Given the description of an element on the screen output the (x, y) to click on. 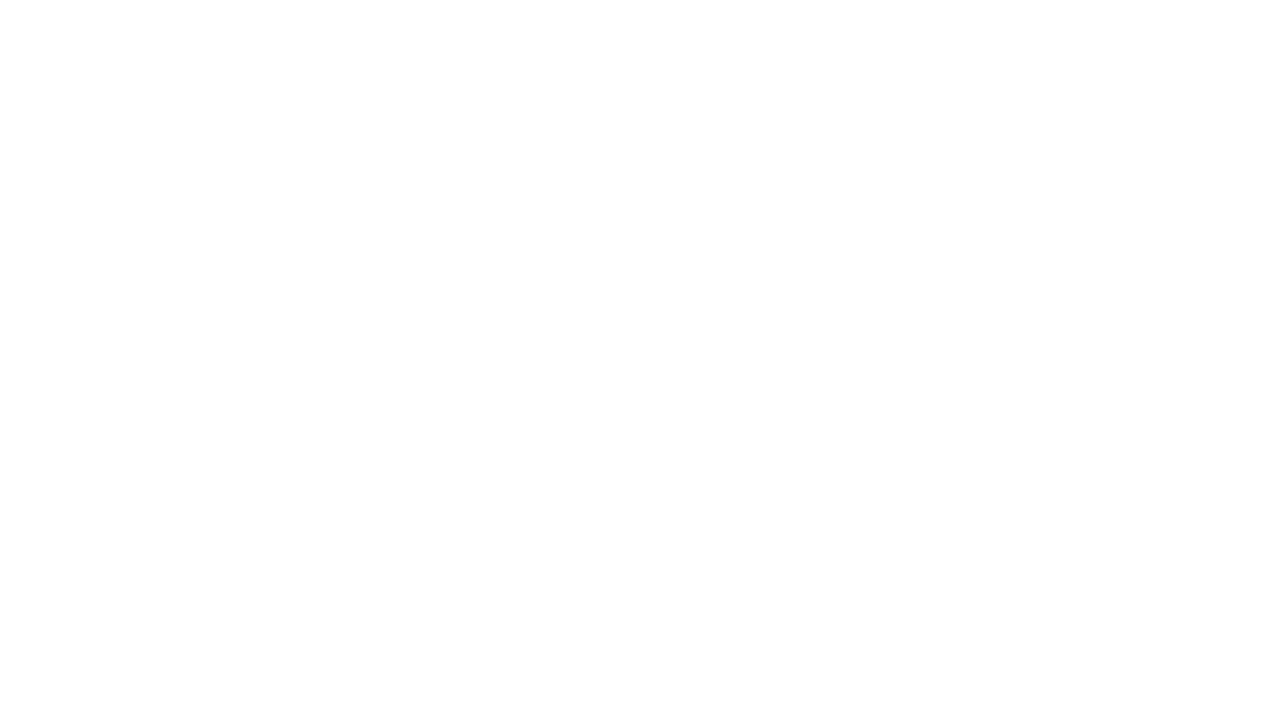
Styles (692, 120)
Strong (216, 100)
Row up (692, 79)
Book Title (575, 100)
Intense Emphasis (143, 100)
Intense Reference (504, 100)
